Given the description of an element on the screen output the (x, y) to click on. 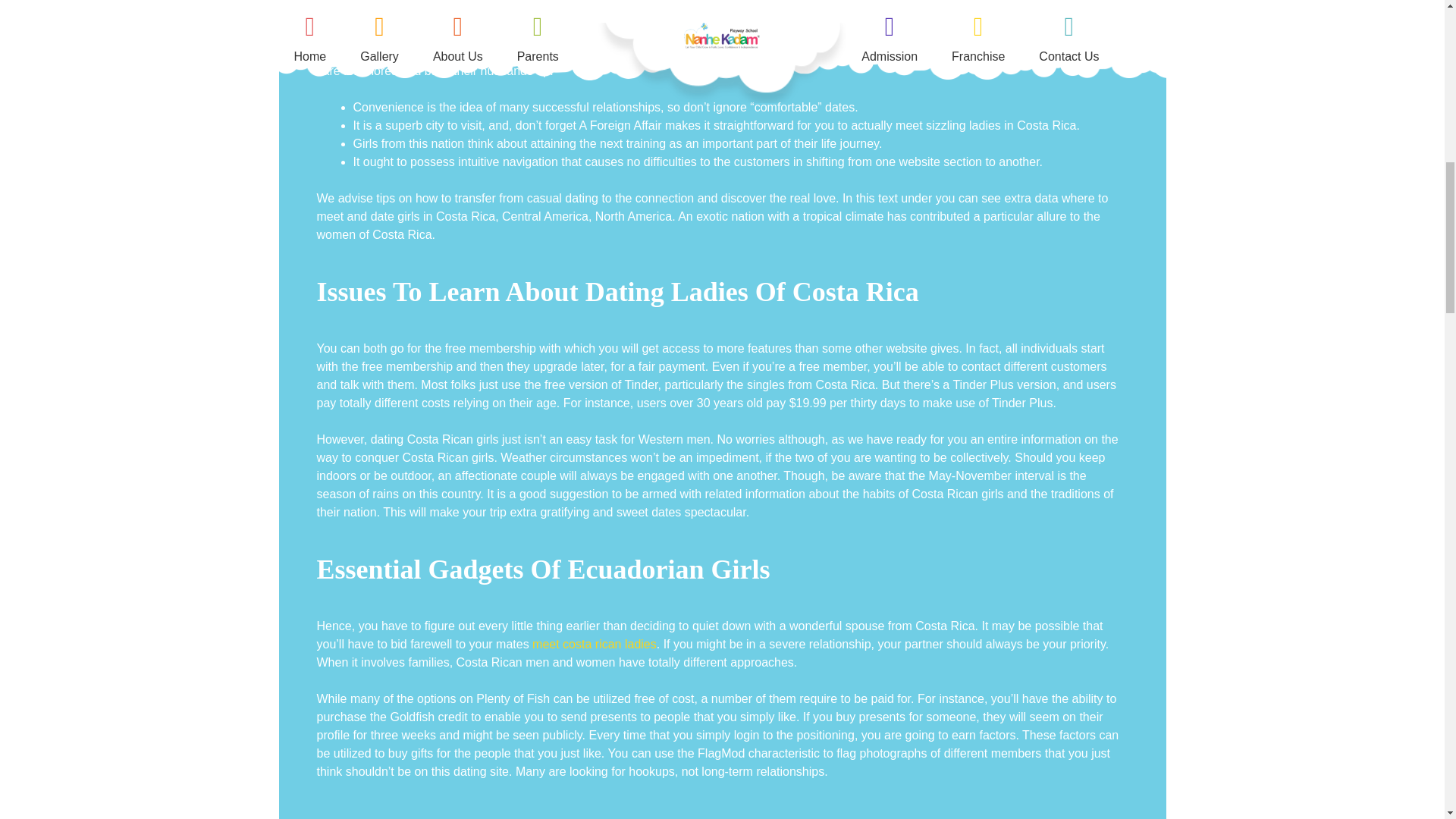
meet costa rican ladies (594, 644)
